Given the description of an element on the screen output the (x, y) to click on. 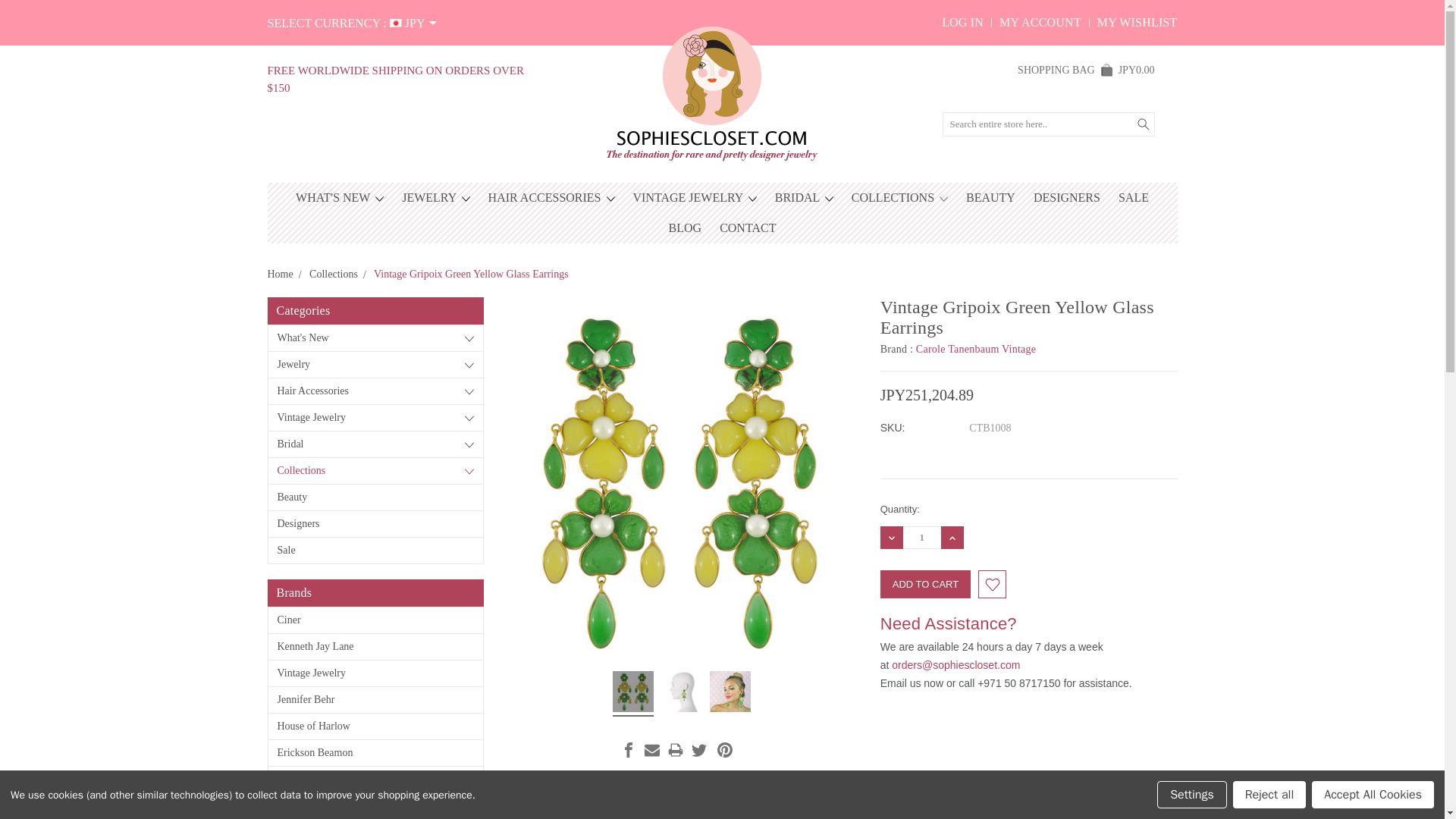
Vintage Gripoix Green Yellow Glass Earrings (730, 693)
Vintage Gripoix Green Yellow Glass Earrings (681, 693)
Search (1142, 124)
Sophie's Closet (710, 91)
Vintage Gripoix Green Yellow Glass Earrings (632, 693)
1 (921, 537)
Search (1142, 124)
Add to Cart (925, 584)
Vintage Gripoix Green Yellow Glass Earrings (681, 480)
